Given the description of an element on the screen output the (x, y) to click on. 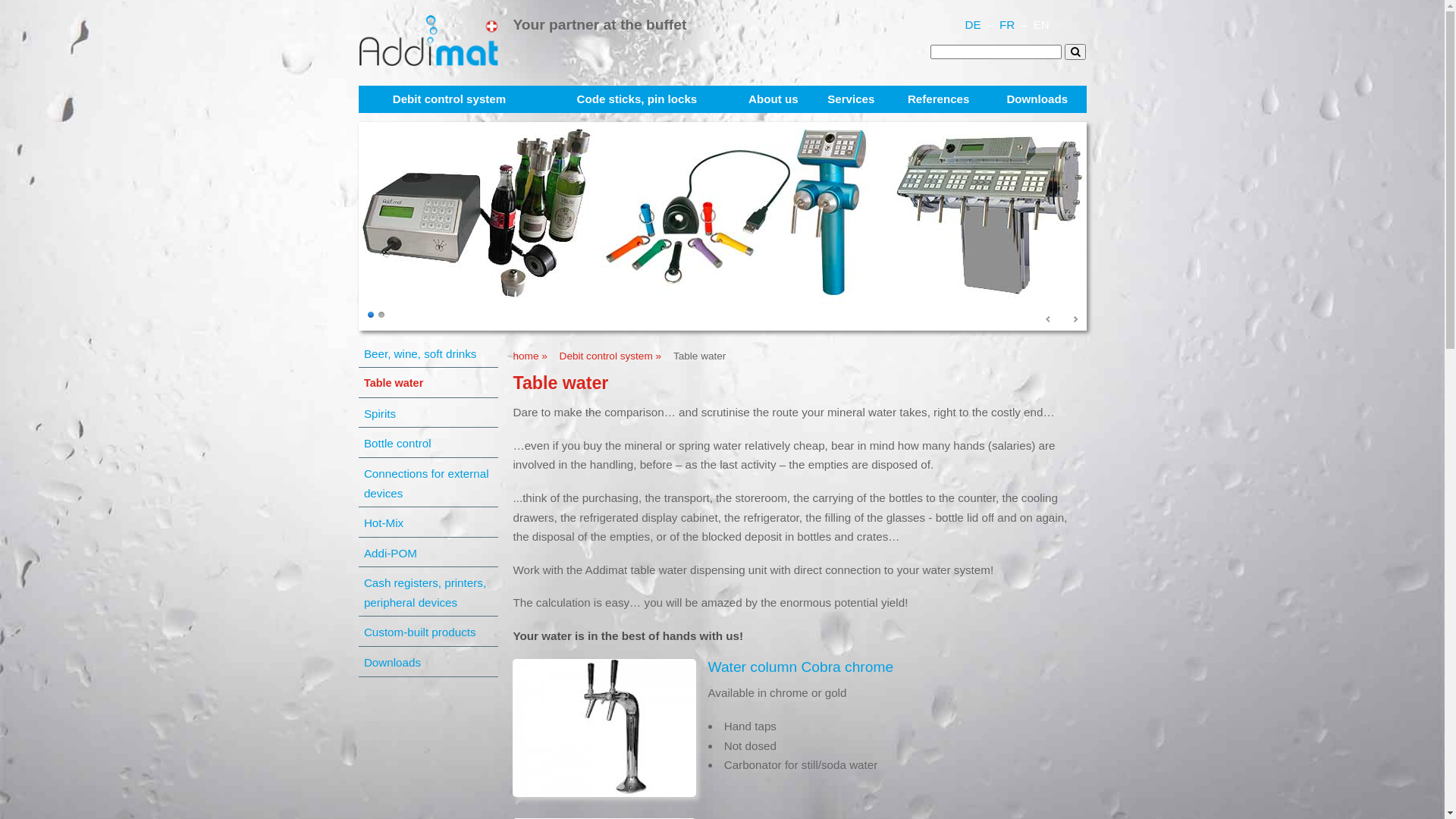
Table water Element type: text (431, 382)
Prev Element type: text (1048, 319)
Addi-POM Element type: text (431, 552)
Services Element type: text (850, 99)
Next Element type: text (1074, 319)
2 Element type: text (381, 315)
DE Element type: text (972, 24)
Downloads Element type: text (431, 661)
Hot-Mix Element type: text (431, 521)
Debit control system Element type: text (448, 99)
Bottle control Element type: text (431, 442)
Code sticks, pin locks Element type: text (636, 99)
Spirits Element type: text (431, 412)
Cash registers, printers, peripheral devices Element type: text (431, 591)
References Element type: text (938, 99)
Beer, wine, soft drinks Element type: text (431, 352)
Connections for external devices Element type: text (431, 482)
EN Element type: text (1041, 24)
Downloads Element type: text (1036, 99)
Custom-built products Element type: text (431, 631)
About us Element type: text (772, 99)
home Element type: hover (427, 61)
1 Element type: text (370, 315)
FR Element type: text (1006, 24)
